Given the description of an element on the screen output the (x, y) to click on. 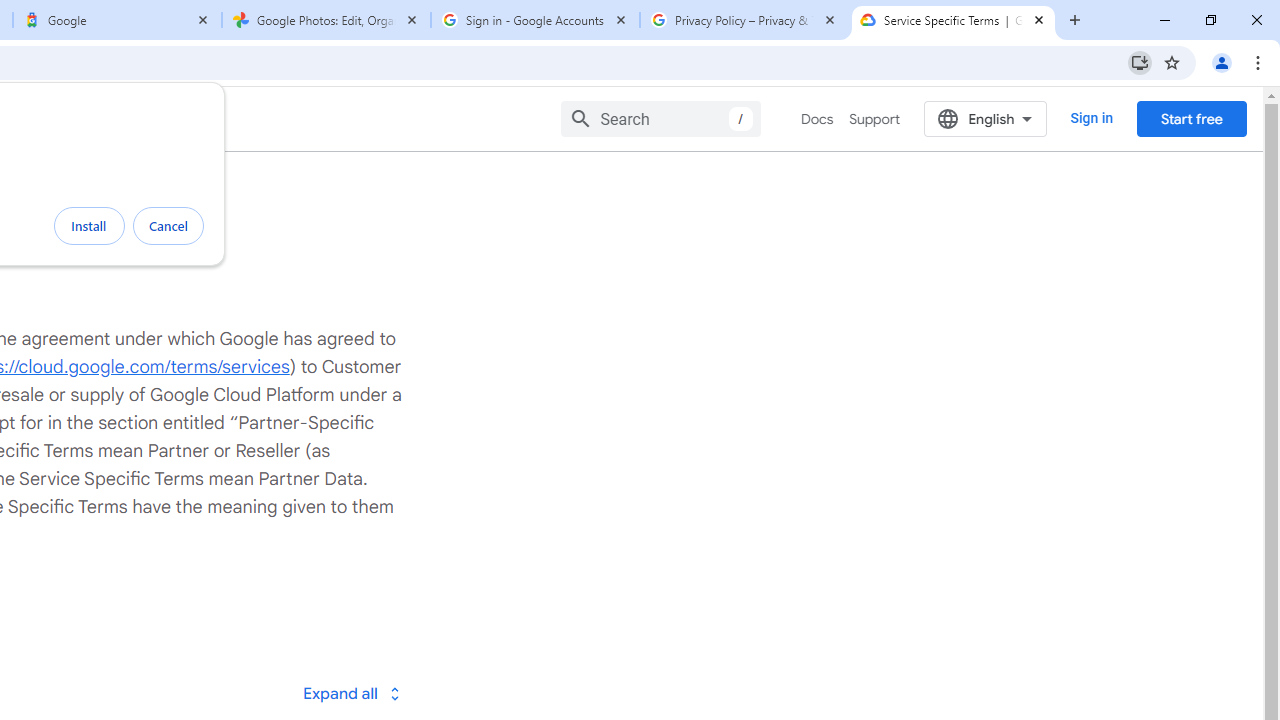
Pages (228, 271)
Words (228, 297)
Tags (228, 372)
Title (228, 347)
Size (228, 246)
Verify Names (197, 683)
Browse Address Book (291, 684)
Total Editing Time (228, 321)
Sign in (875, 32)
